Given the description of an element on the screen output the (x, y) to click on. 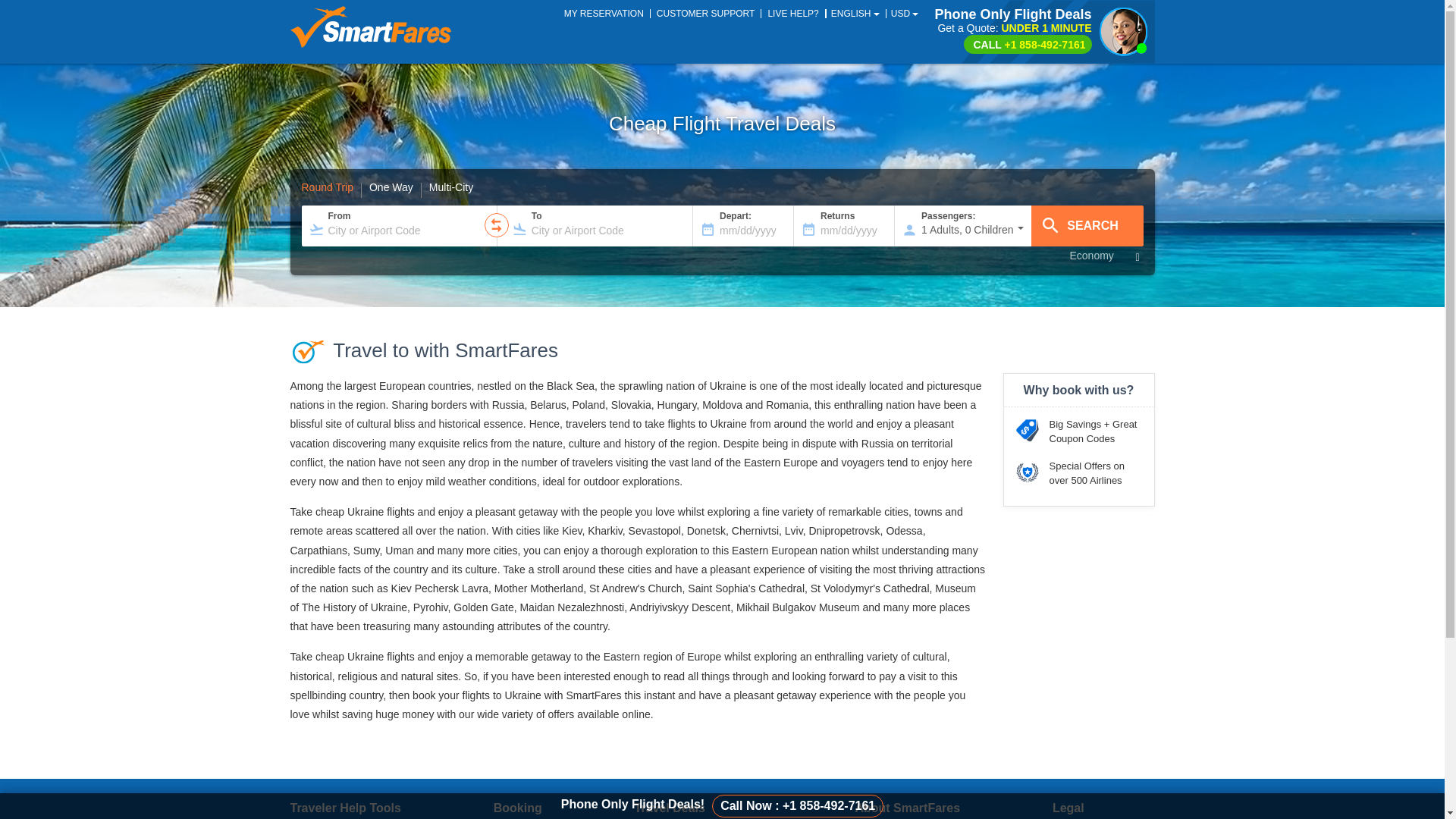
USD (904, 13)
Search (1086, 225)
ENGLISH (854, 13)
